Given the description of an element on the screen output the (x, y) to click on. 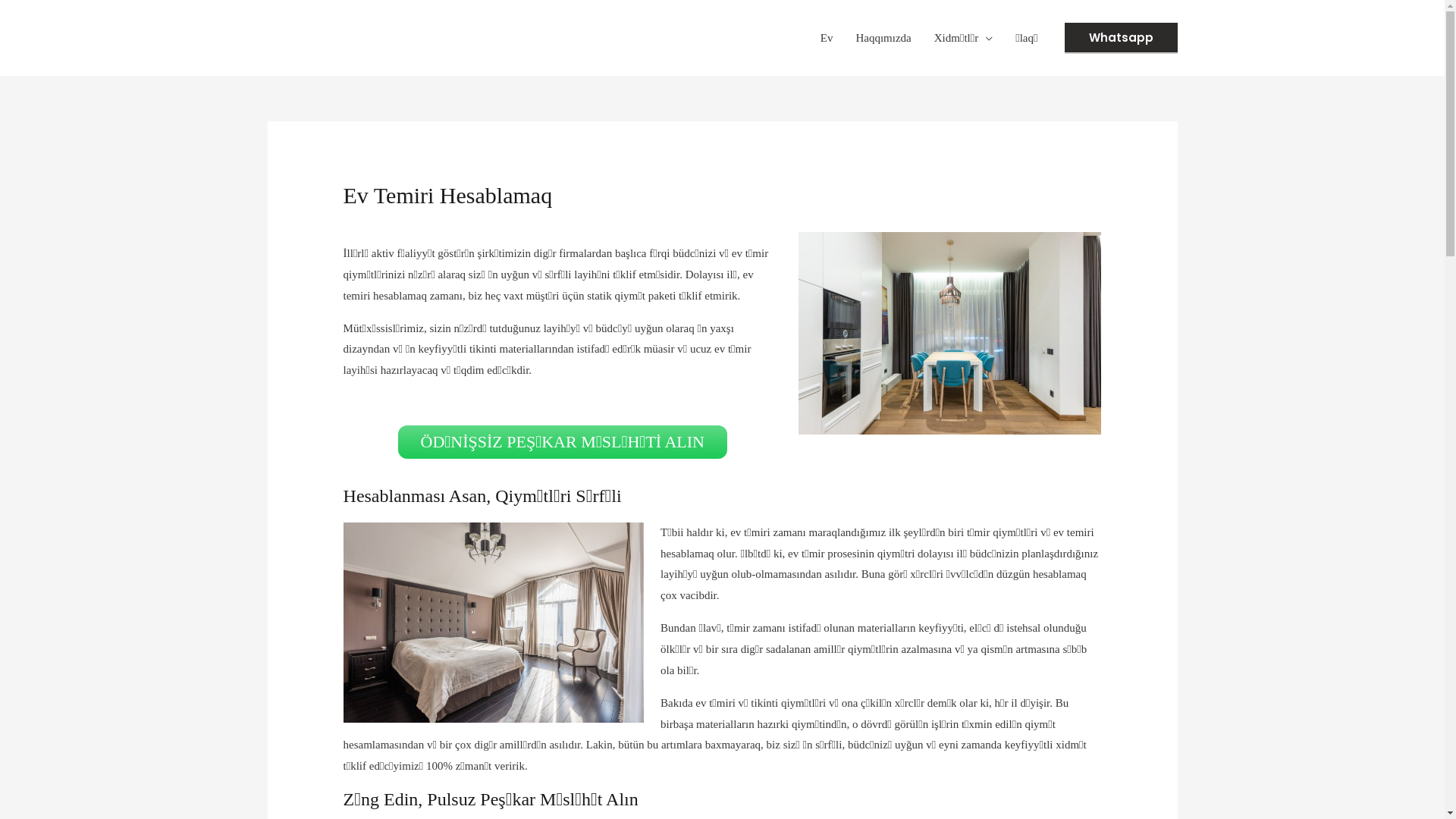
Ev Element type: text (826, 37)
Whatsapp Element type: text (1120, 37)
